Given the description of an element on the screen output the (x, y) to click on. 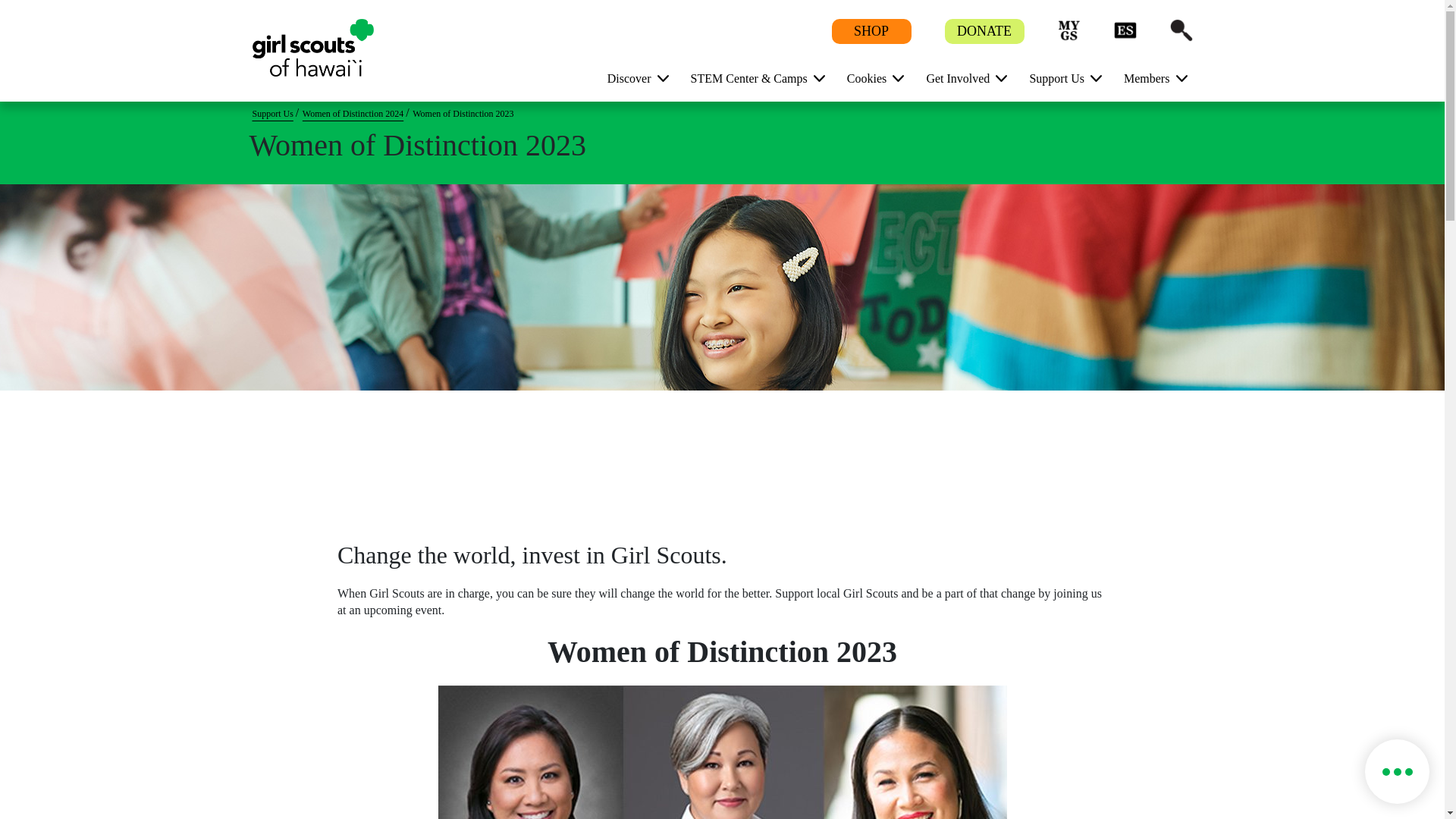
Discover (632, 77)
Cookies (870, 77)
Espanol (1124, 29)
myGS (1068, 29)
DONATE (984, 31)
SHOP (871, 31)
Search (1180, 29)
